Given the description of an element on the screen output the (x, y) to click on. 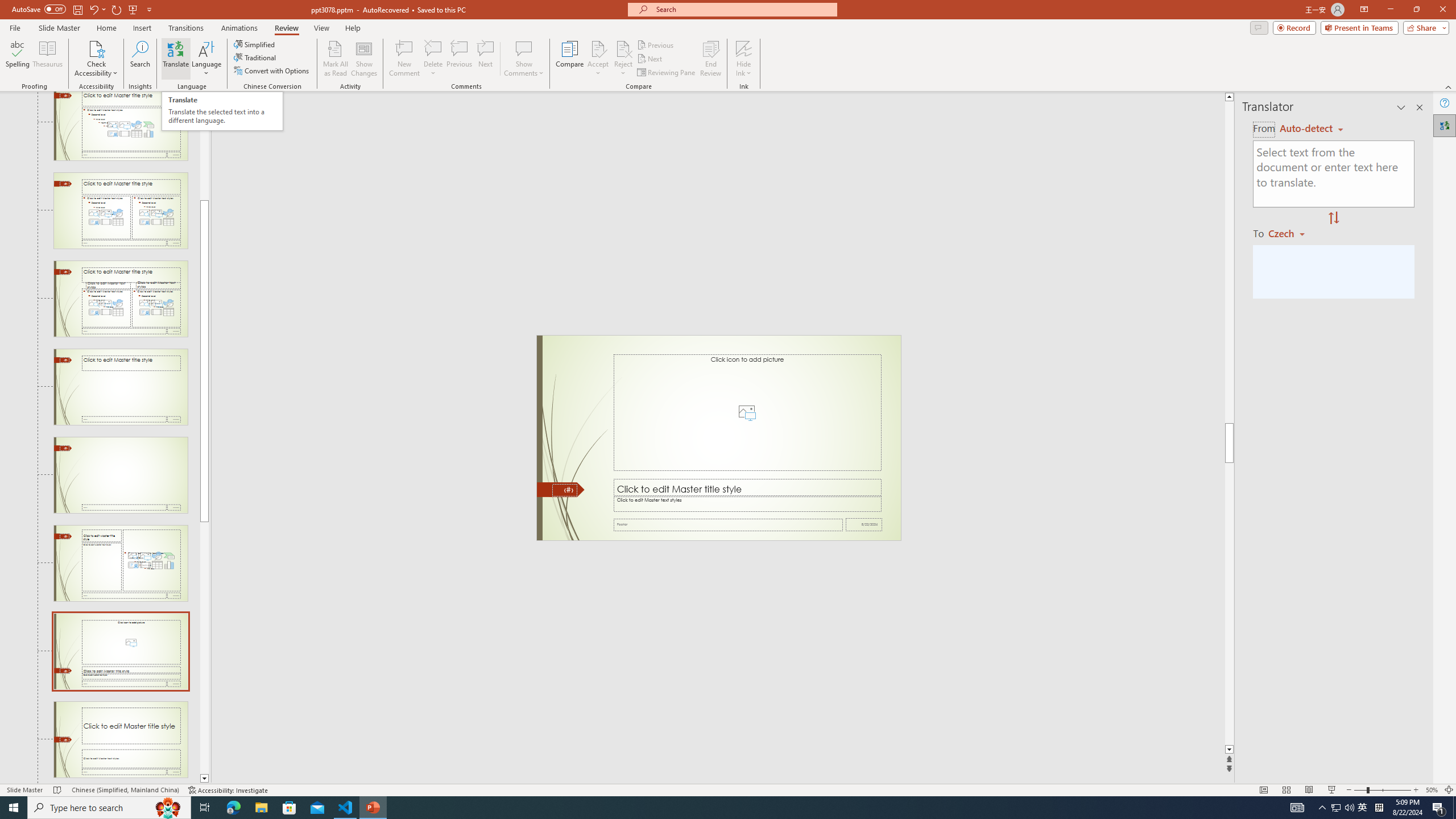
Thesaurus... (47, 58)
End Review (710, 58)
Zoom 50% (1431, 790)
Previous (655, 44)
Check Accessibility (95, 48)
Delete (432, 48)
Simplified (254, 44)
Footer (727, 524)
Next (649, 58)
